Given the description of an element on the screen output the (x, y) to click on. 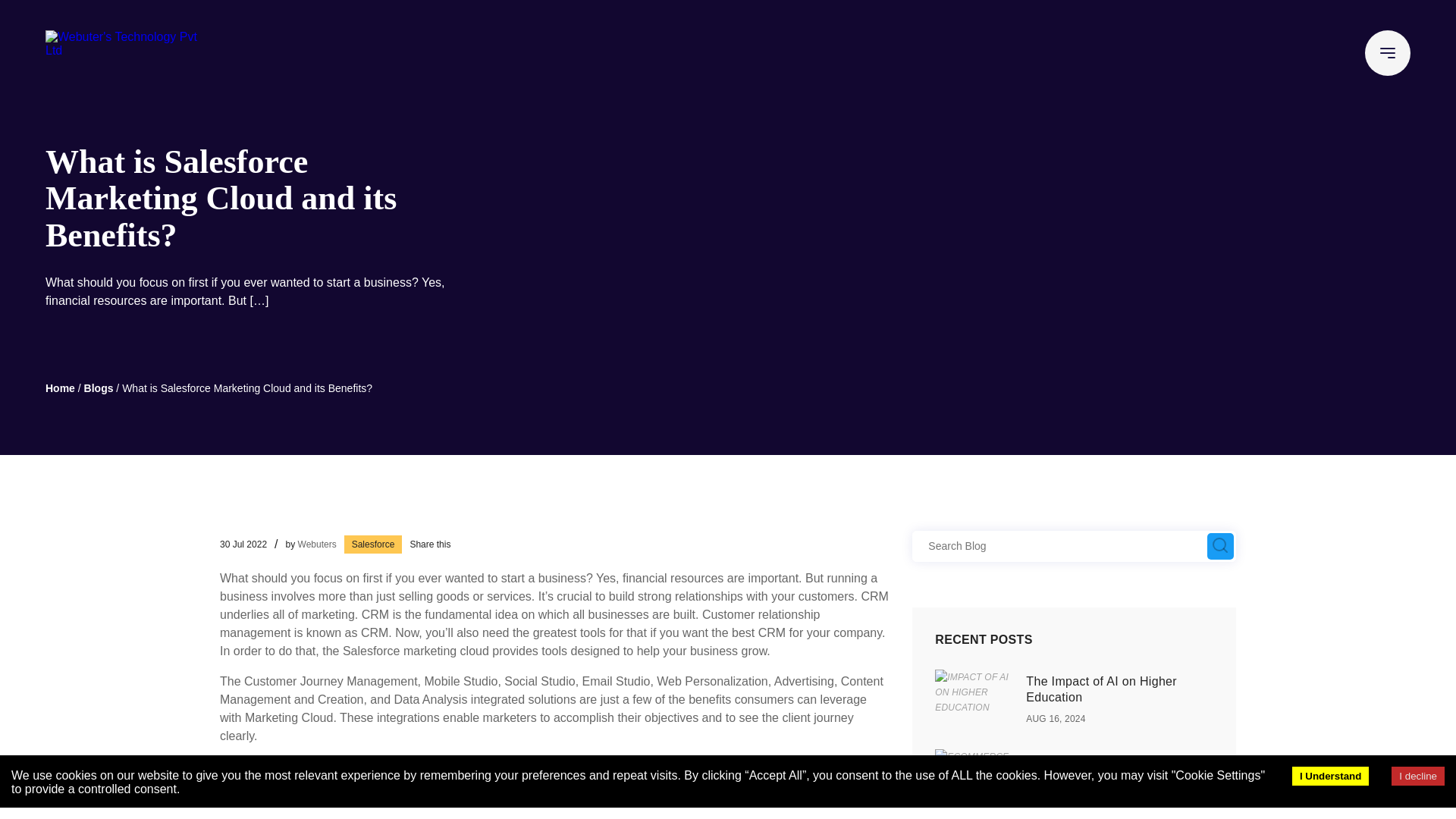
I decline (1417, 775)
Webuters (317, 543)
I Understand (1330, 775)
Salesforce (373, 544)
Home (60, 387)
AUG 16, 2024 (1055, 718)
AUG 07, 2024 (1055, 798)
E-commerce Conversion Rate Optimization Tips (1110, 768)
The Impact of AI on Higher Education (1101, 688)
Blogs (98, 387)
